Given the description of an element on the screen output the (x, y) to click on. 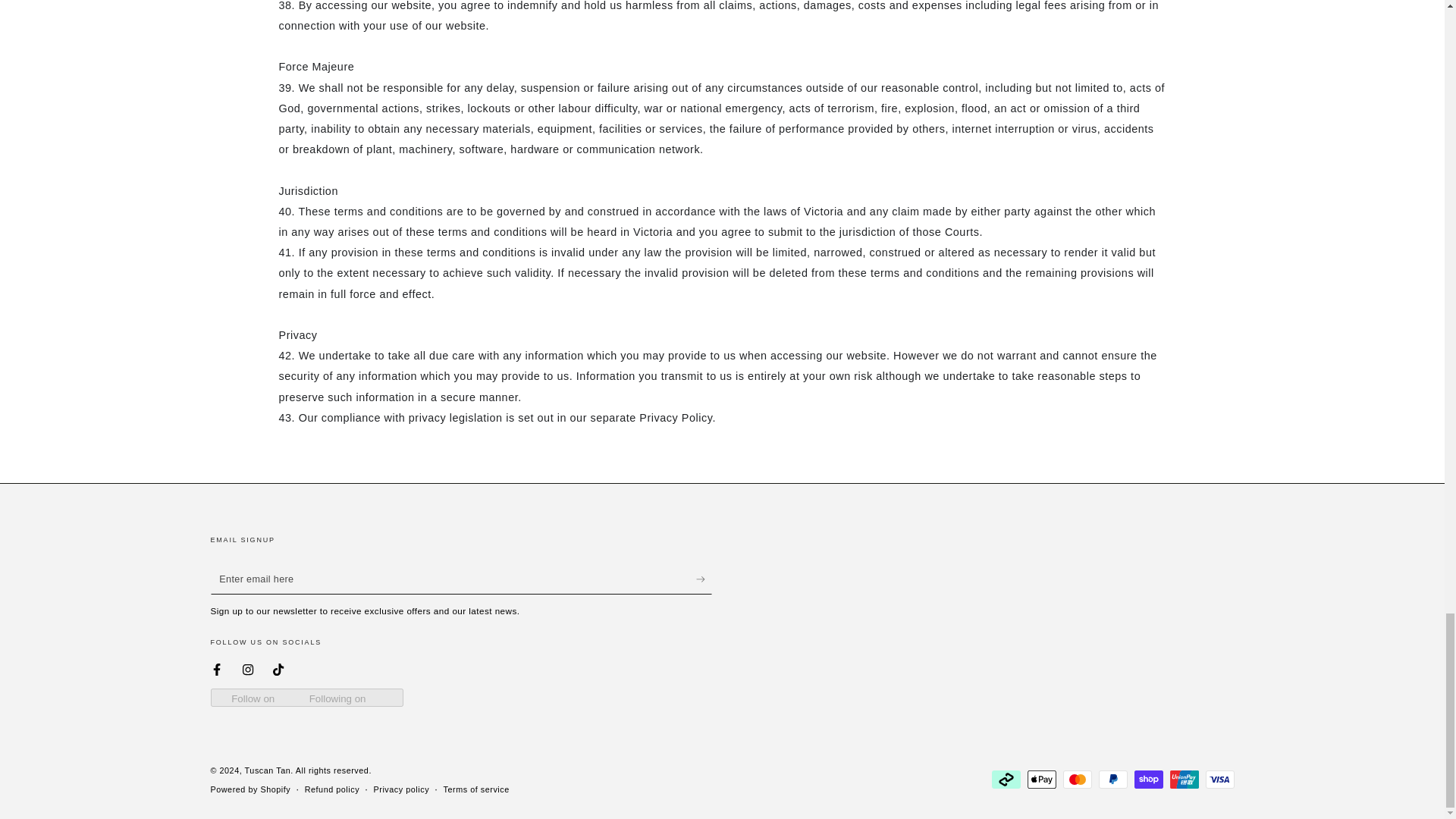
Tuscan Tan (267, 769)
TikTok (278, 669)
Facebook (216, 669)
Instagram (248, 669)
